Given the description of an element on the screen output the (x, y) to click on. 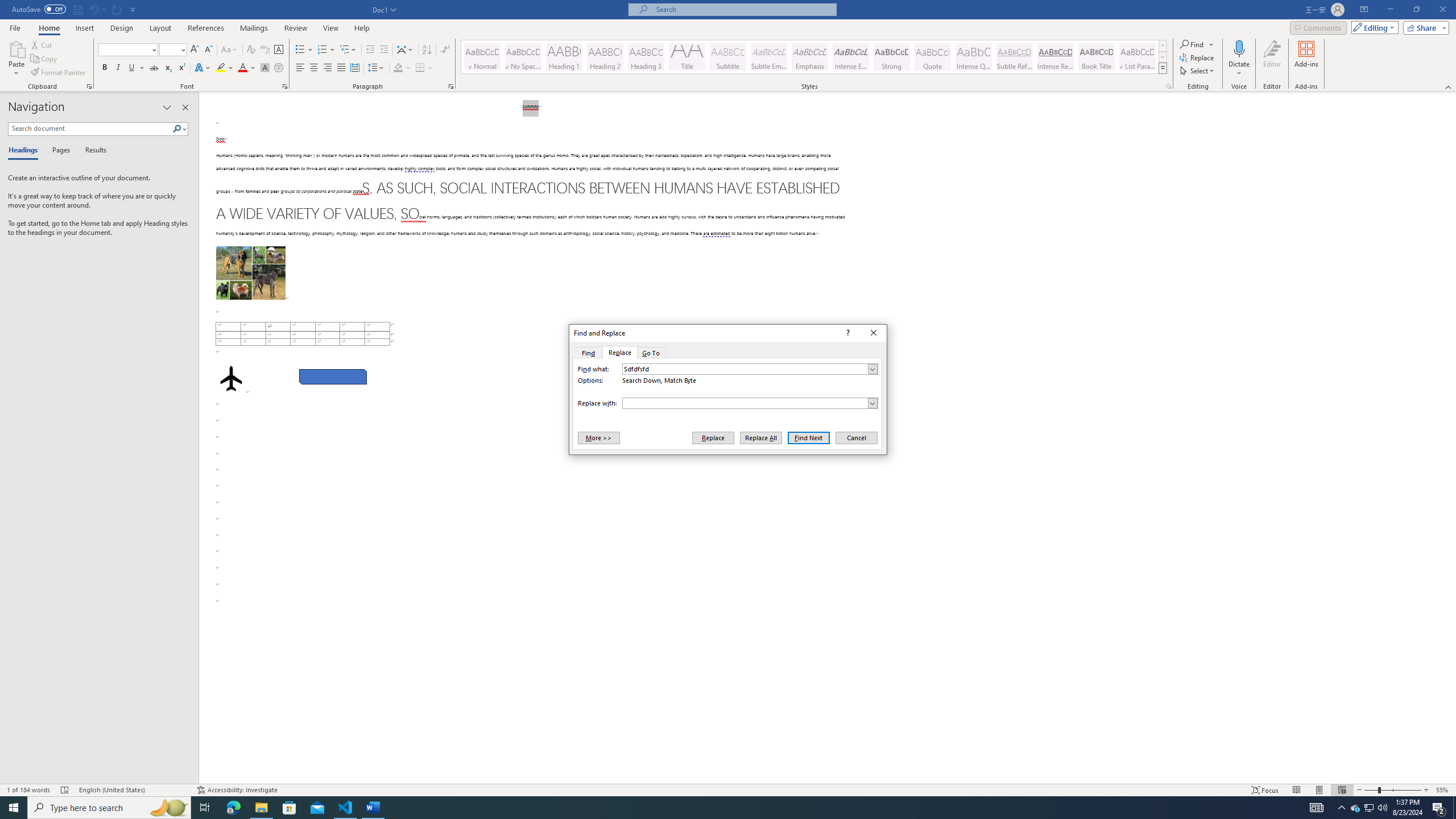
Q2790: 100% (1382, 807)
Editor (1272, 58)
Character Shading (264, 67)
Subscript (167, 67)
Undo Paragraph Alignment (96, 9)
Shading (402, 67)
